Given the description of an element on the screen output the (x, y) to click on. 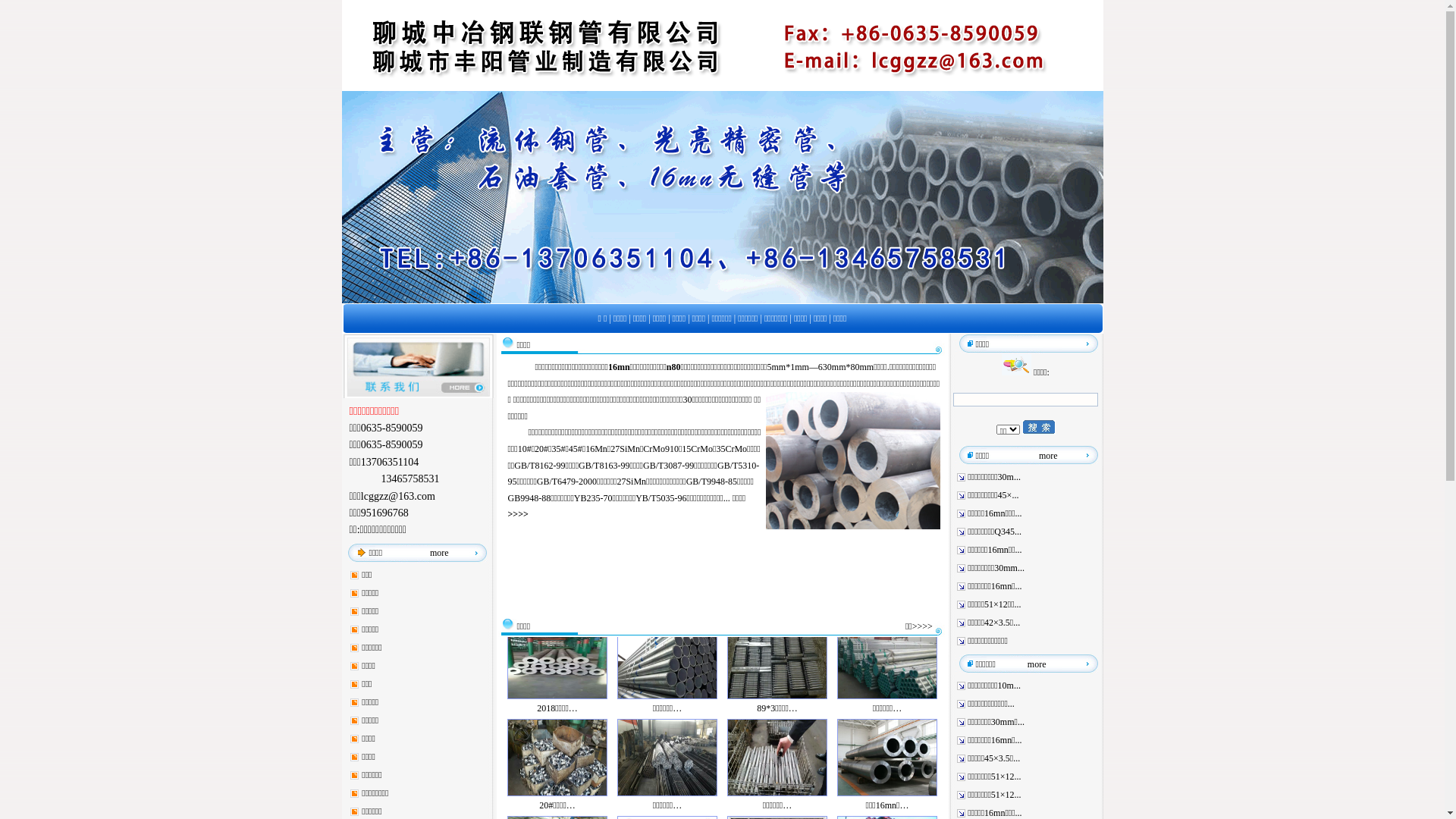
more Element type: text (1036, 663)
more Element type: text (438, 552)
more Element type: text (1047, 455)
